Given the description of an element on the screen output the (x, y) to click on. 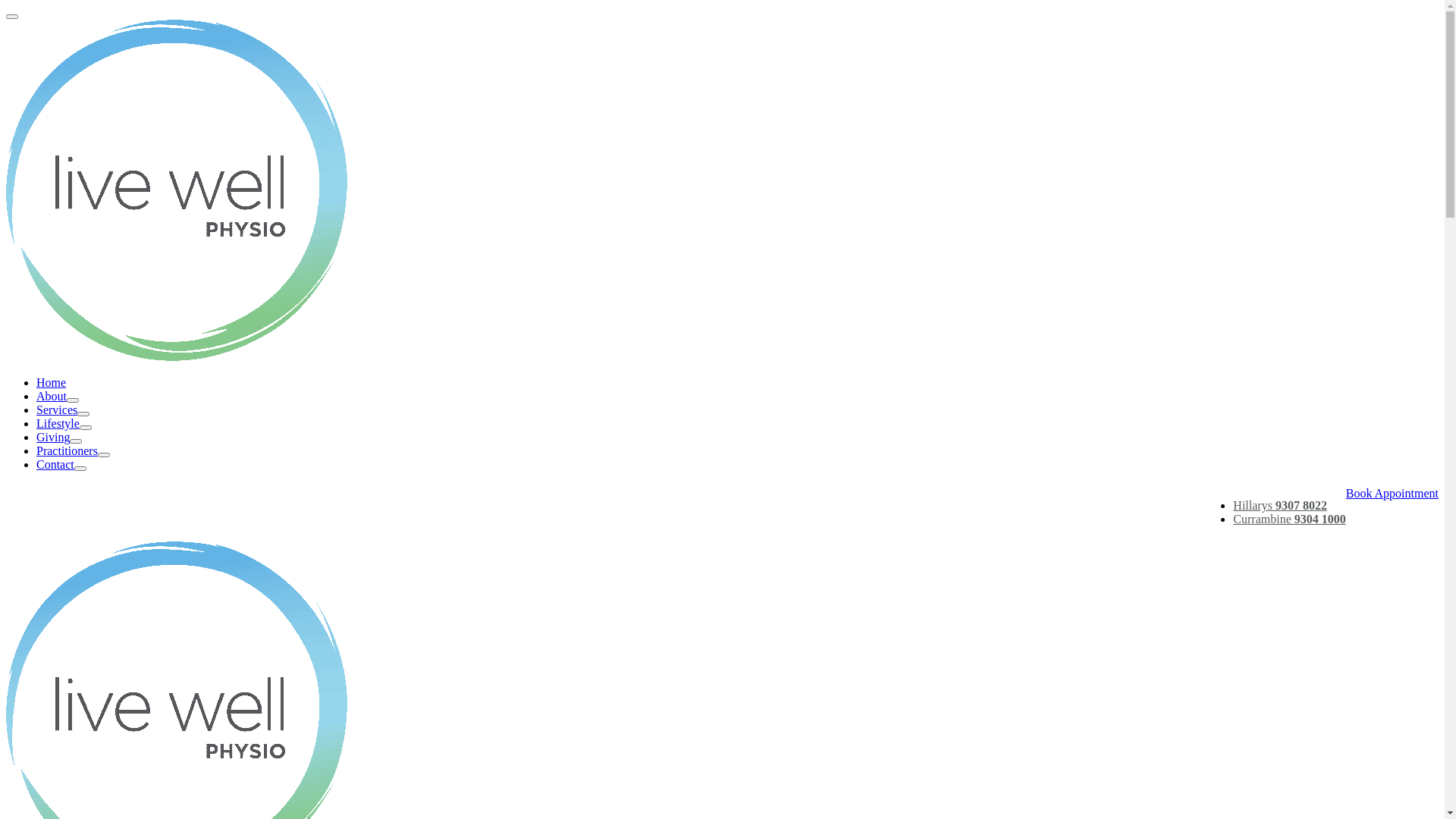
Home Element type: text (50, 382)
Book Appointment Element type: text (1392, 492)
Lifestyle Element type: text (63, 423)
Giving Element type: text (58, 436)
Practitioners Element type: text (72, 450)
Services Element type: text (62, 409)
Currambine 9304 1000 Element type: text (1289, 518)
Hillarys 9307 8022 Element type: text (1280, 504)
Contact Element type: text (61, 464)
About Element type: text (57, 395)
